Given the description of an element on the screen output the (x, y) to click on. 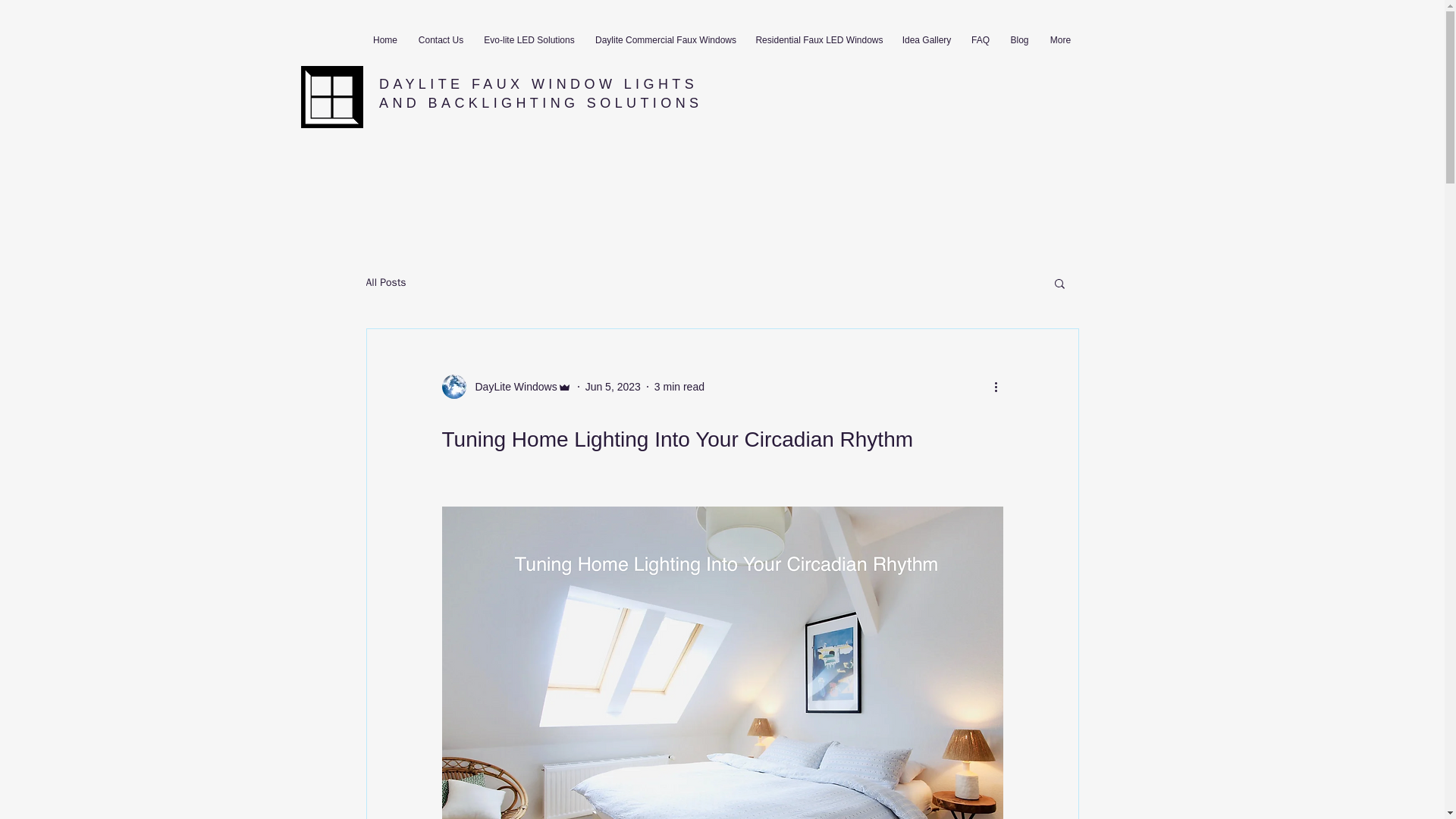
Home (385, 40)
Blog (1018, 40)
Daylite Commercial Faux Windows (665, 40)
Residential Faux LED Windows (818, 40)
FAQ (980, 40)
Contact Us (440, 40)
Idea Gallery (925, 40)
All Posts (385, 282)
DayLite Windows (510, 386)
Jun 5, 2023 (612, 386)
